Given the description of an element on the screen output the (x, y) to click on. 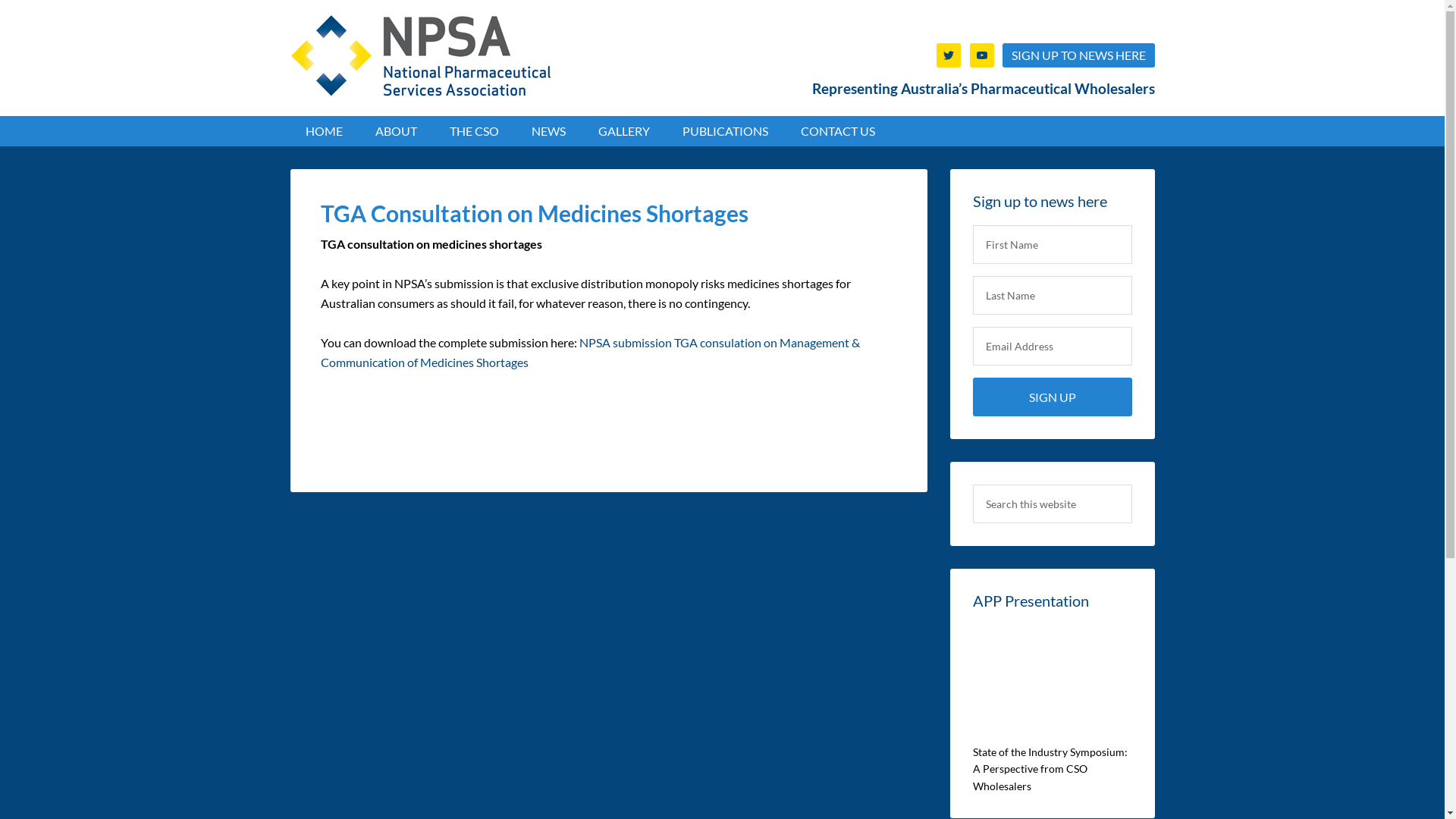
NEWS Element type: text (547, 131)
CONTACT US Element type: text (837, 131)
GALLERY Element type: text (623, 131)
SIGN UP TO NEWS HERE Element type: text (1078, 55)
PUBLICATIONS Element type: text (725, 131)
NPSA Element type: text (419, 55)
Sign up Element type: text (1051, 396)
THE CSO Element type: text (473, 131)
ABOUT Element type: text (395, 131)
Search Element type: text (1131, 483)
HOME Element type: text (323, 131)
